Given the description of an element on the screen output the (x, y) to click on. 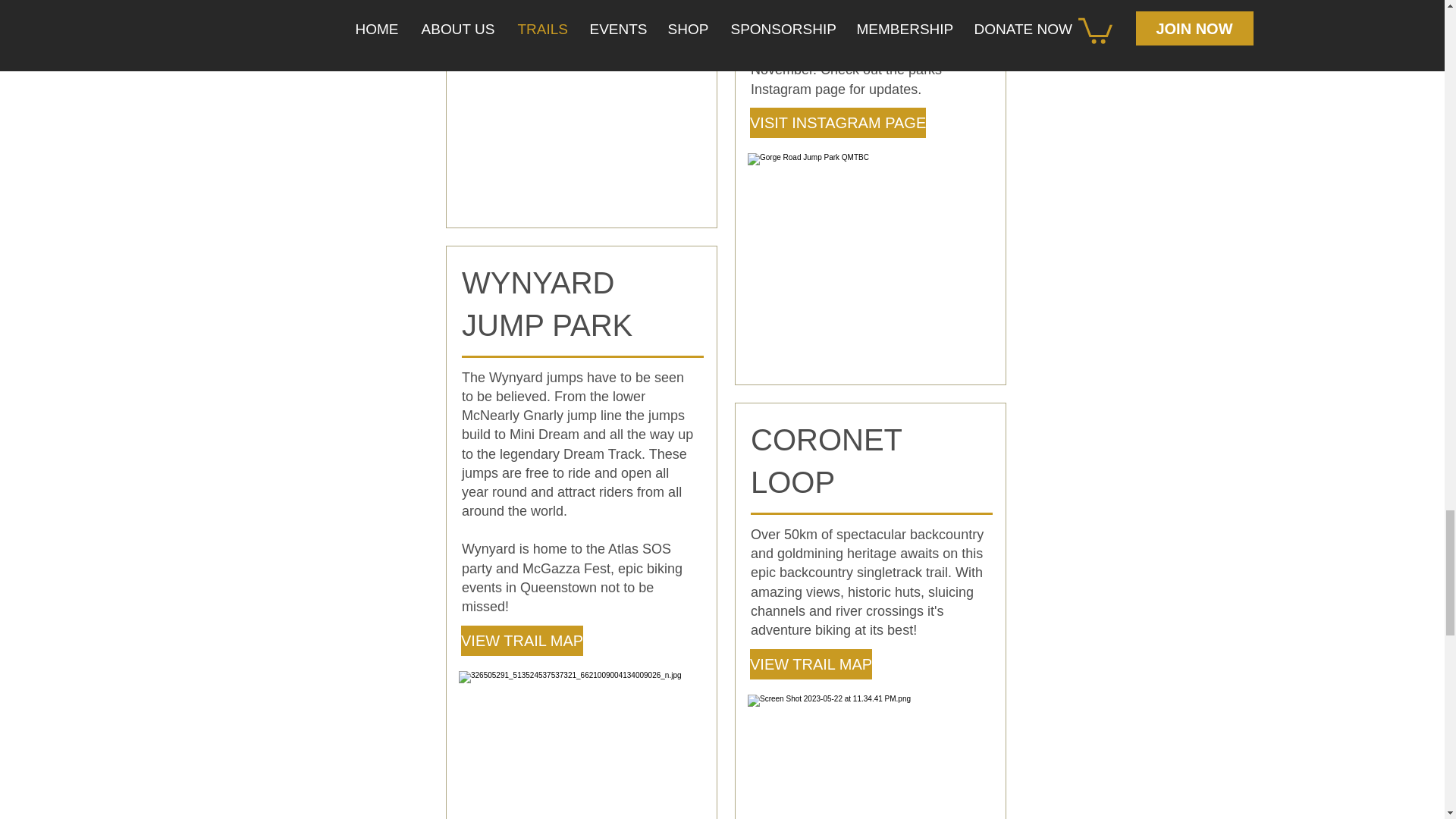
VISIT INSTAGRAM PAGE (837, 122)
VIEW TRAIL MAP (522, 640)
VIEW TRAIL MAP (810, 664)
